Given the description of an element on the screen output the (x, y) to click on. 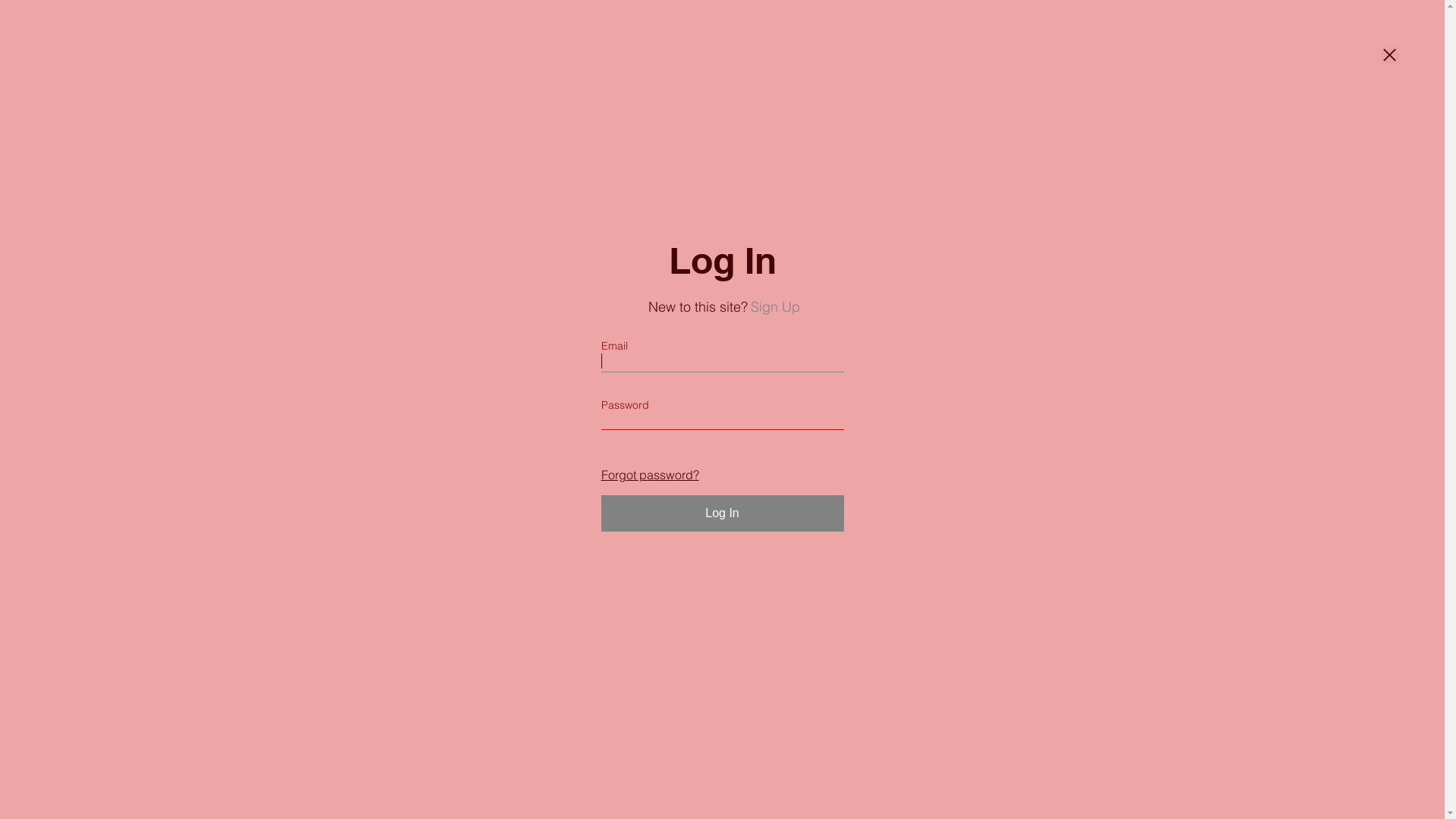
Log In Element type: text (721, 513)
Forgot password? Element type: text (649, 474)
Sign Up Element type: text (775, 306)
